Given the description of an element on the screen output the (x, y) to click on. 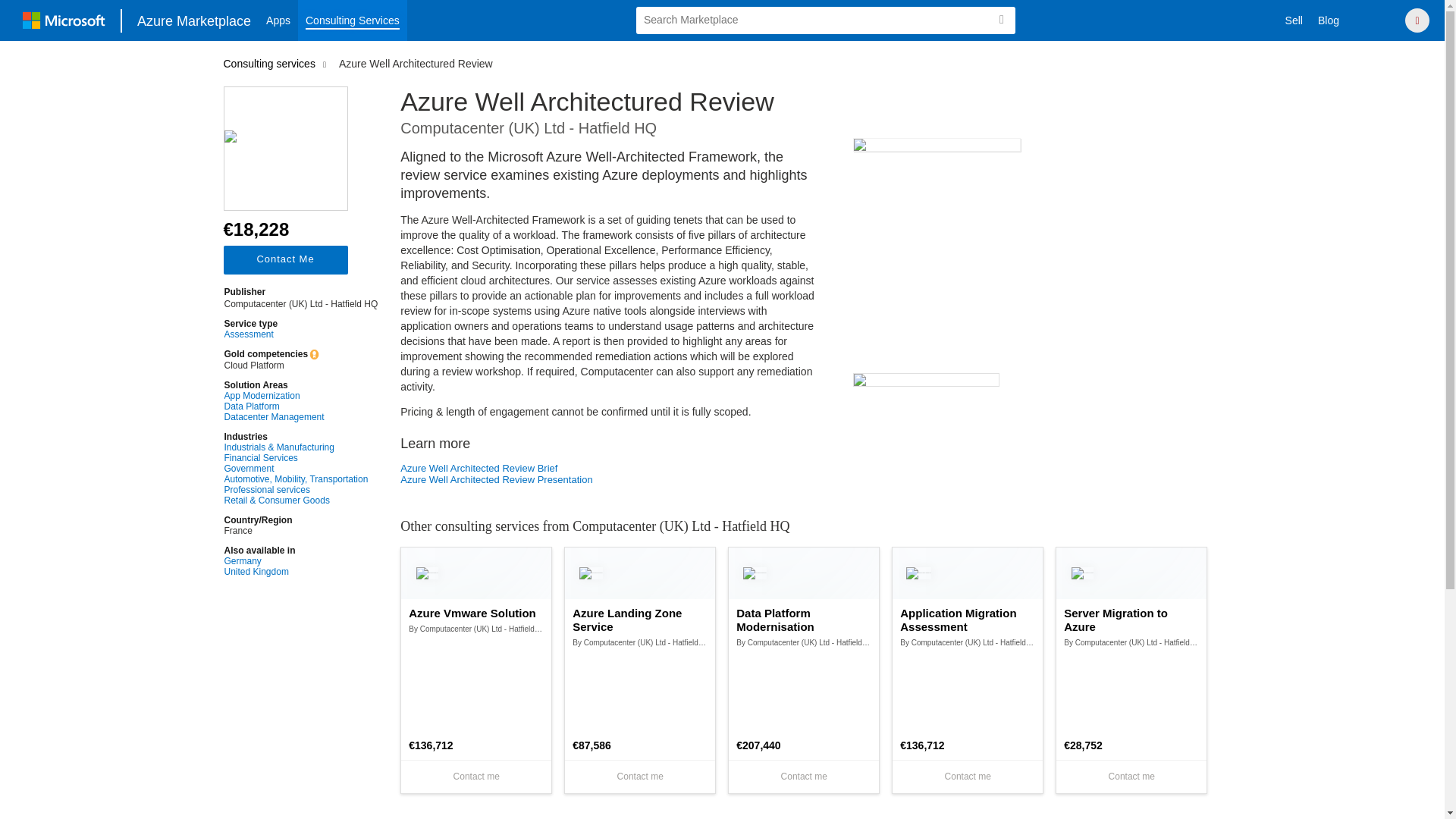
Search (1001, 19)
Azure Vmware Solution (476, 612)
Azure Landing Zone Service (639, 619)
Feedback (1377, 20)
Apps (278, 20)
Server Migration to Azure (1131, 619)
Consulting Services (352, 20)
Azure Marketplace (194, 20)
Data Platform Modernisation (803, 619)
Search  (1001, 19)
Blog (1328, 20)
Application Migration Assessment (967, 619)
